Given the description of an element on the screen output the (x, y) to click on. 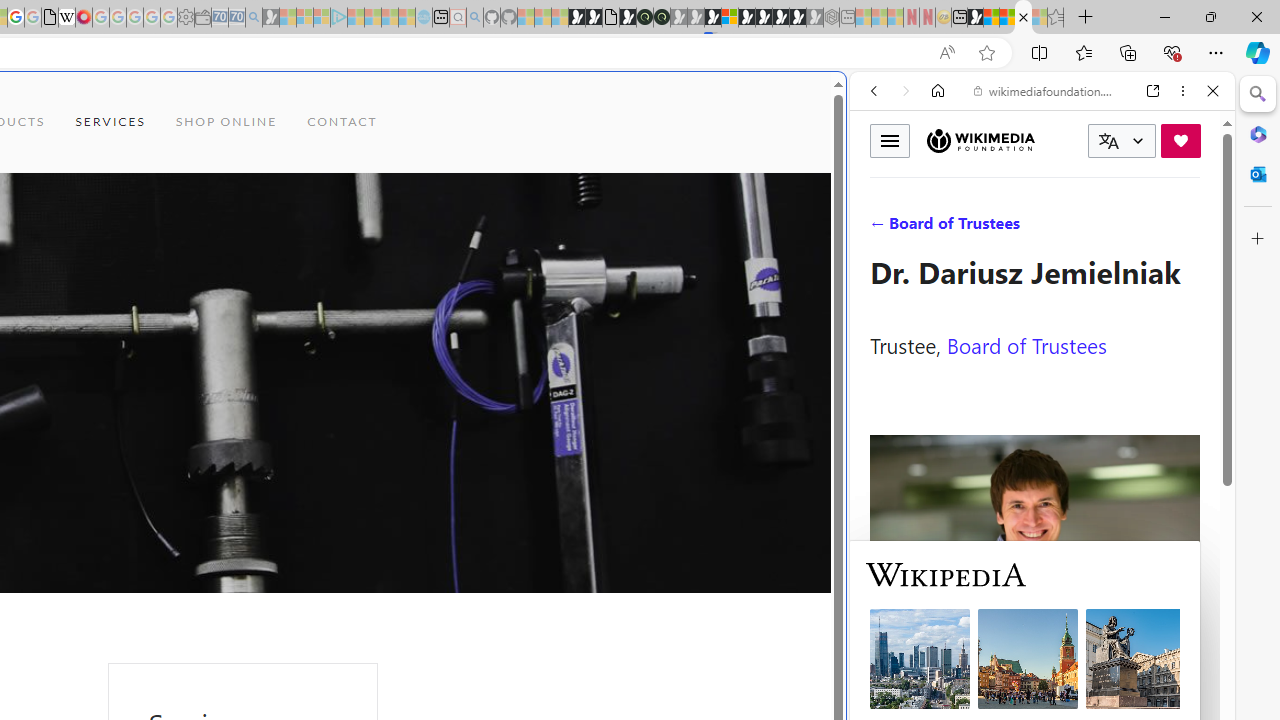
Future Focus Report 2024 (661, 17)
Play Cave FRVR in your browser | Games from Microsoft Start (343, 426)
Bing Real Estate - Home sales and rental listings - Sleeping (253, 17)
